Given the description of an element on the screen output the (x, y) to click on. 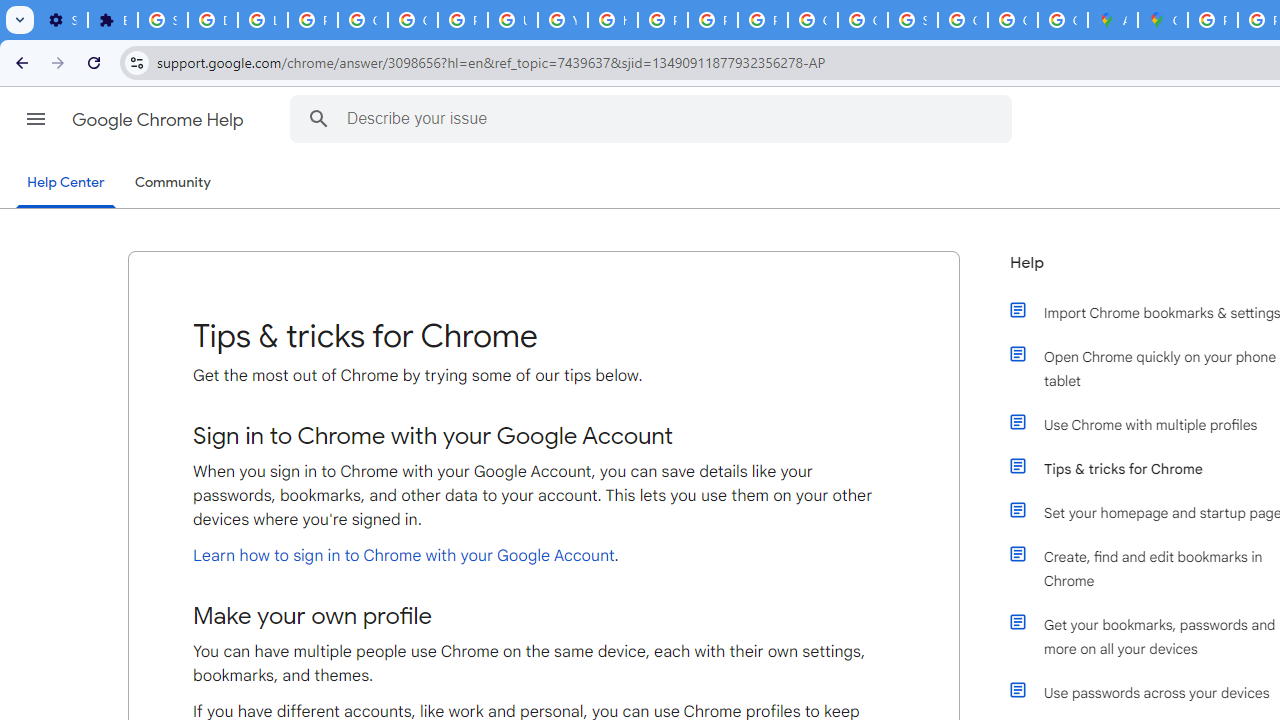
Describe your issue (653, 118)
Google Maps (1162, 20)
Privacy Help Center - Policies Help (662, 20)
YouTube (562, 20)
Delete photos & videos - Computer - Google Photos Help (213, 20)
Community (171, 183)
